Given the description of an element on the screen output the (x, y) to click on. 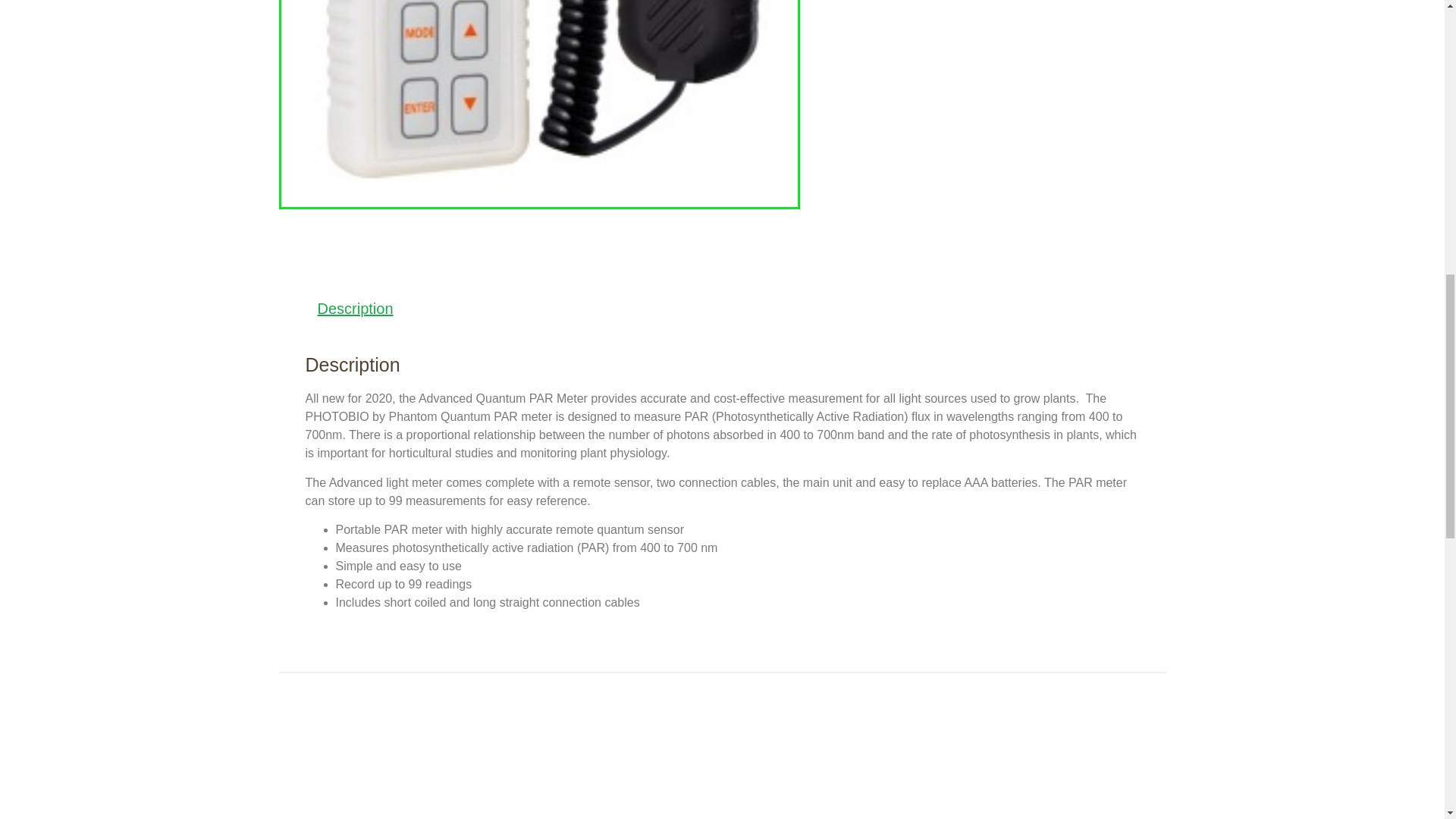
PARmeter (539, 104)
